Given the description of an element on the screen output the (x, y) to click on. 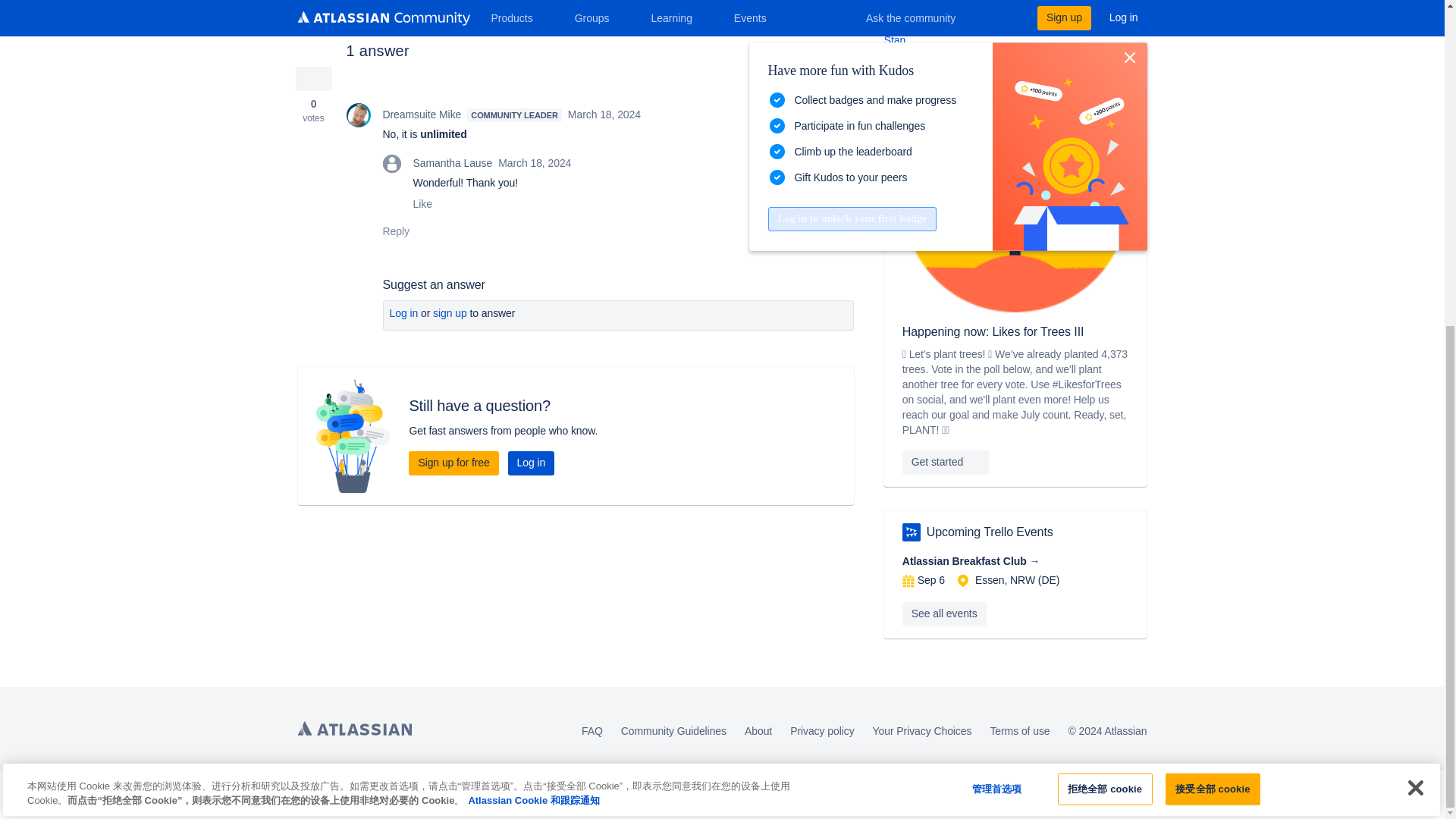
Dreamsuite Mike (357, 115)
AUG Leaders (911, 532)
Samantha Lause (390, 163)
